Given the description of an element on the screen output the (x, y) to click on. 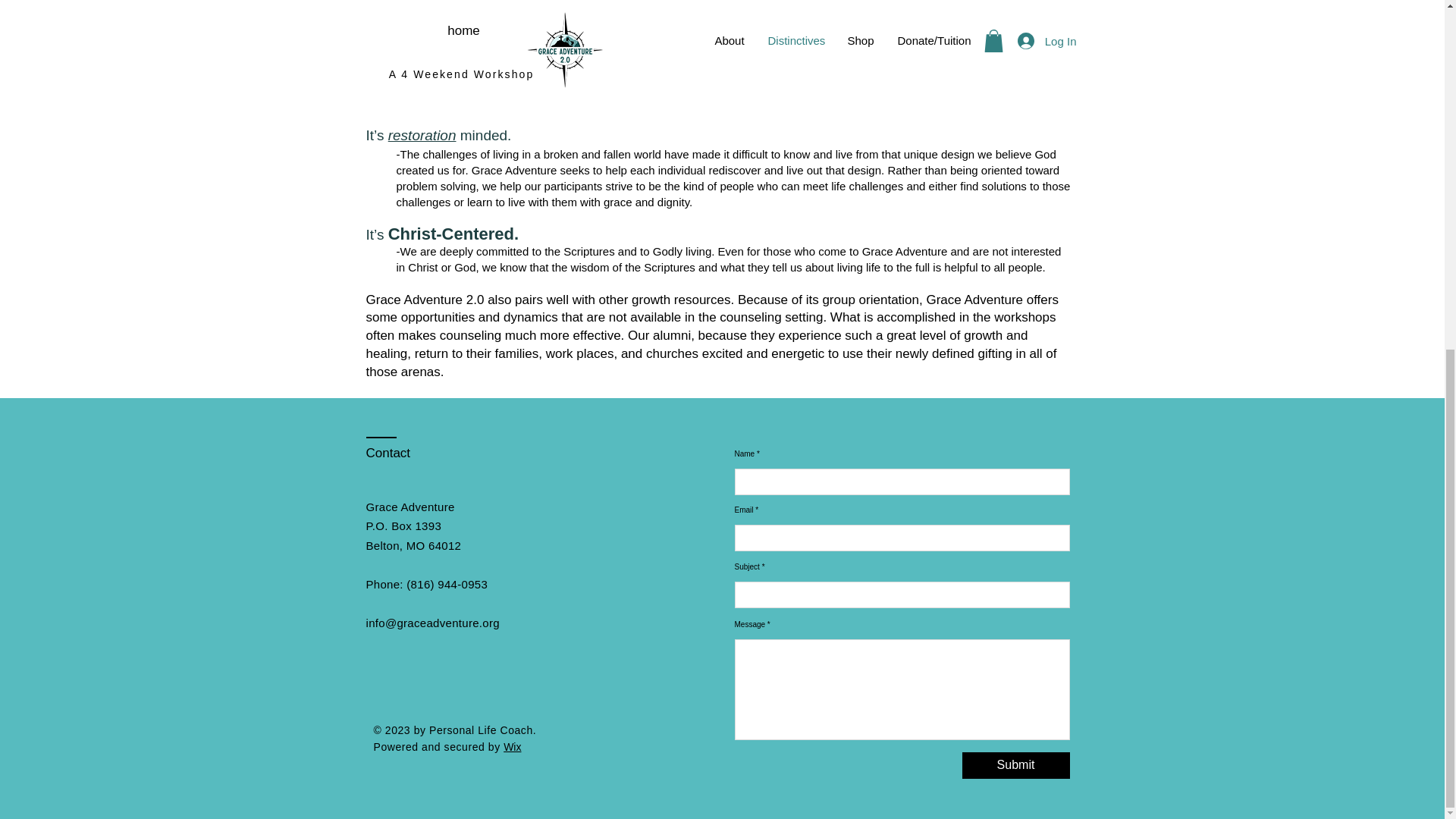
Submit (1014, 765)
Wix (512, 746)
